Given the description of an element on the screen output the (x, y) to click on. 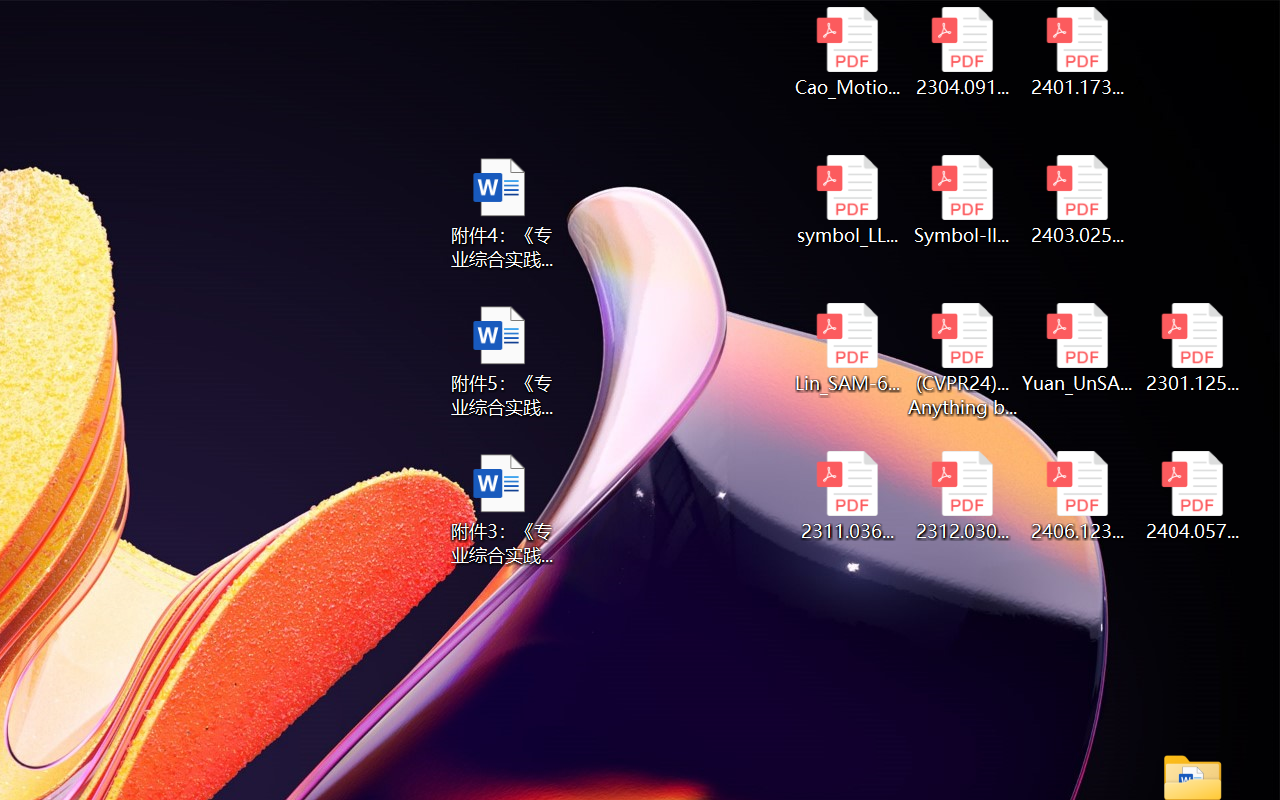
(CVPR24)Matching Anything by Segmenting Anything.pdf (962, 360)
2401.17399v1.pdf (1077, 52)
2312.03032v2.pdf (962, 496)
2406.12373v2.pdf (1077, 496)
2301.12597v3.pdf (1192, 348)
2403.02502v1.pdf (1077, 200)
symbol_LLM.pdf (846, 200)
2304.09121v3.pdf (962, 52)
2311.03658v2.pdf (846, 496)
2404.05719v1.pdf (1192, 496)
